Given the description of an element on the screen output the (x, y) to click on. 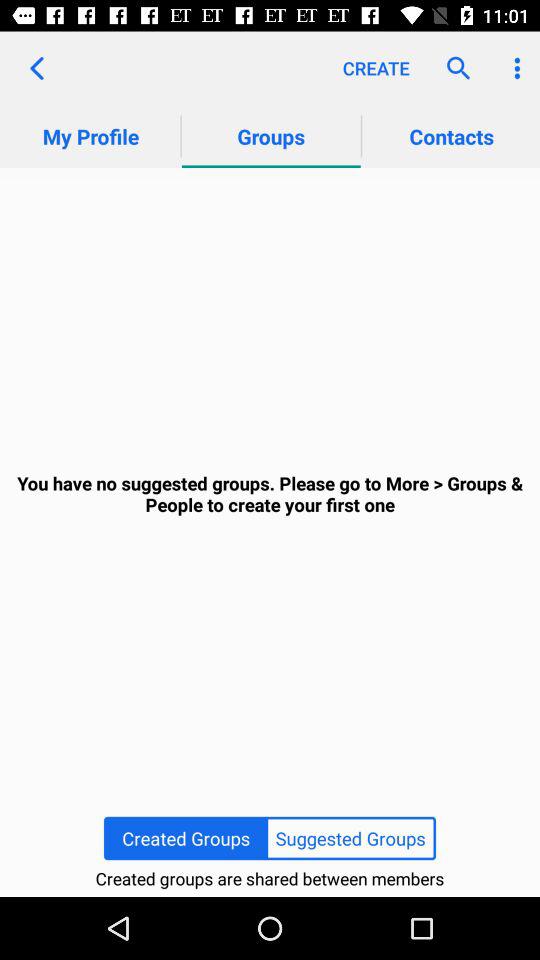
select app above contacts item (513, 67)
